Given the description of an element on the screen output the (x, y) to click on. 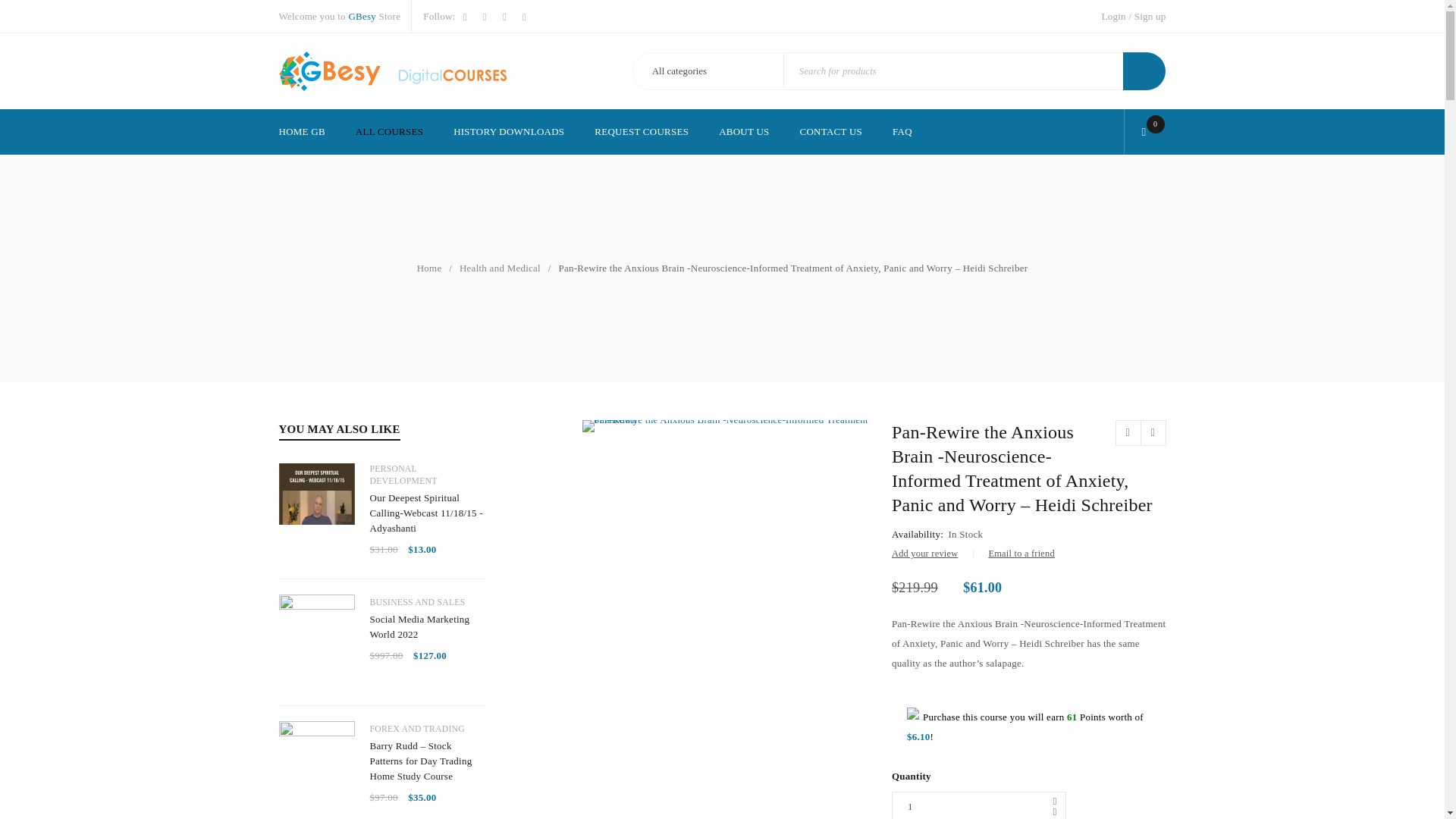
Search (1144, 71)
Search (1144, 71)
Login (1112, 16)
1 (978, 805)
0 (1148, 132)
Search (1144, 71)
CONTACT US (830, 131)
- (1054, 812)
Social Media Marketing World 2022 (426, 626)
Register (802, 563)
